Given the description of an element on the screen output the (x, y) to click on. 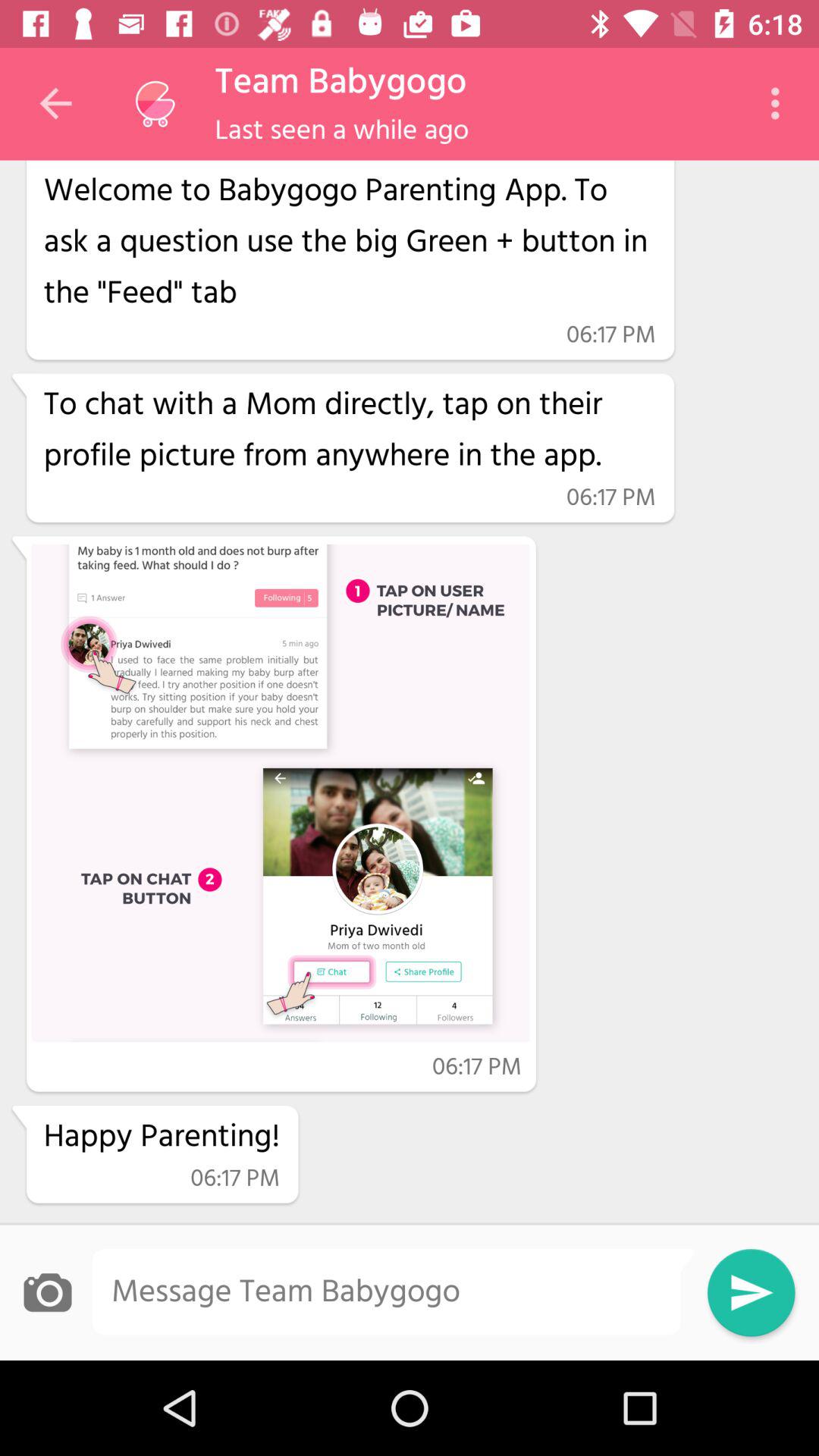
camera icon (47, 1292)
